Given the description of an element on the screen output the (x, y) to click on. 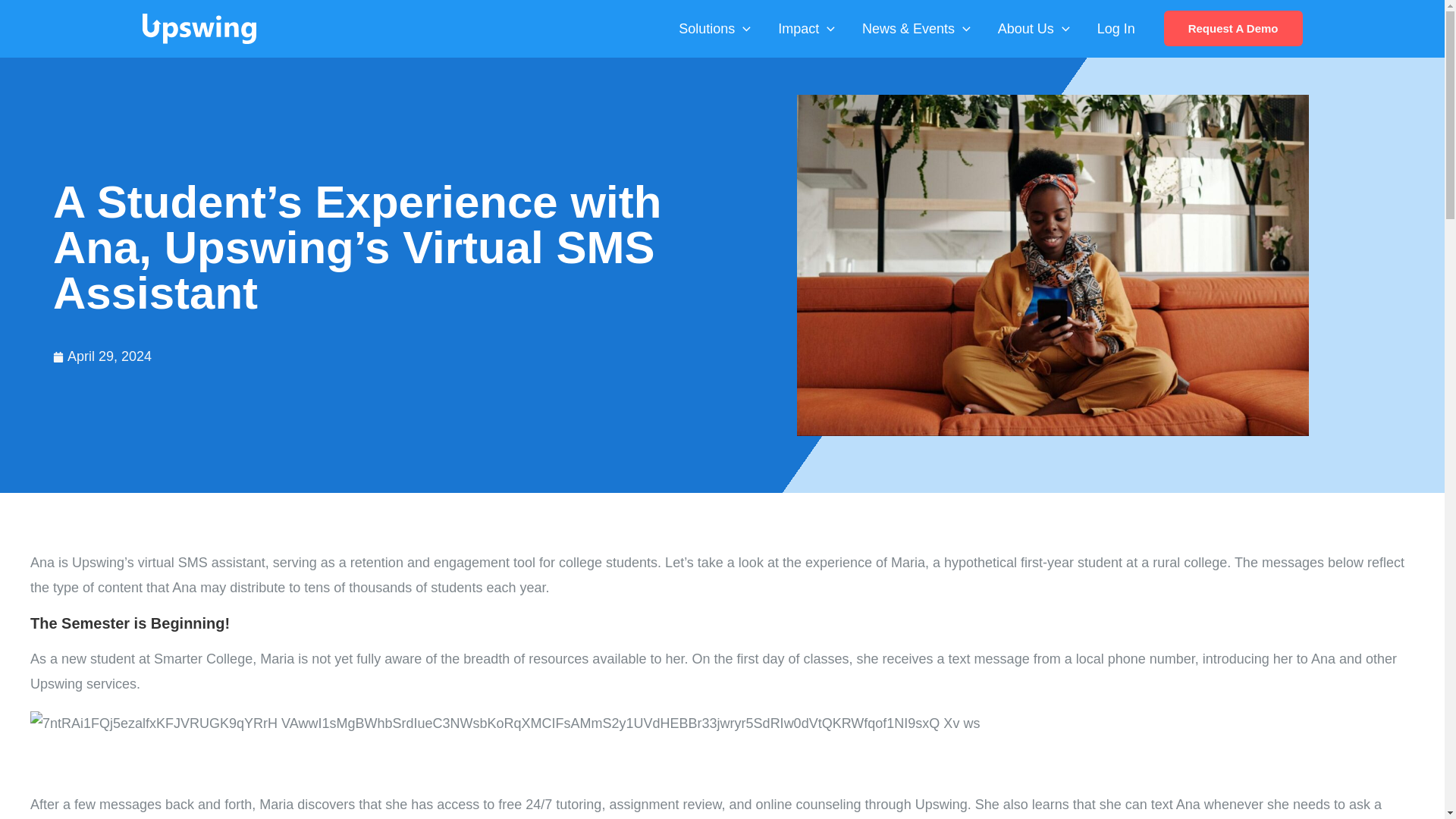
Request A Demo (1233, 27)
Solutions (714, 28)
Log In (1115, 28)
Impact (806, 28)
About Us (1033, 28)
